Given the description of an element on the screen output the (x, y) to click on. 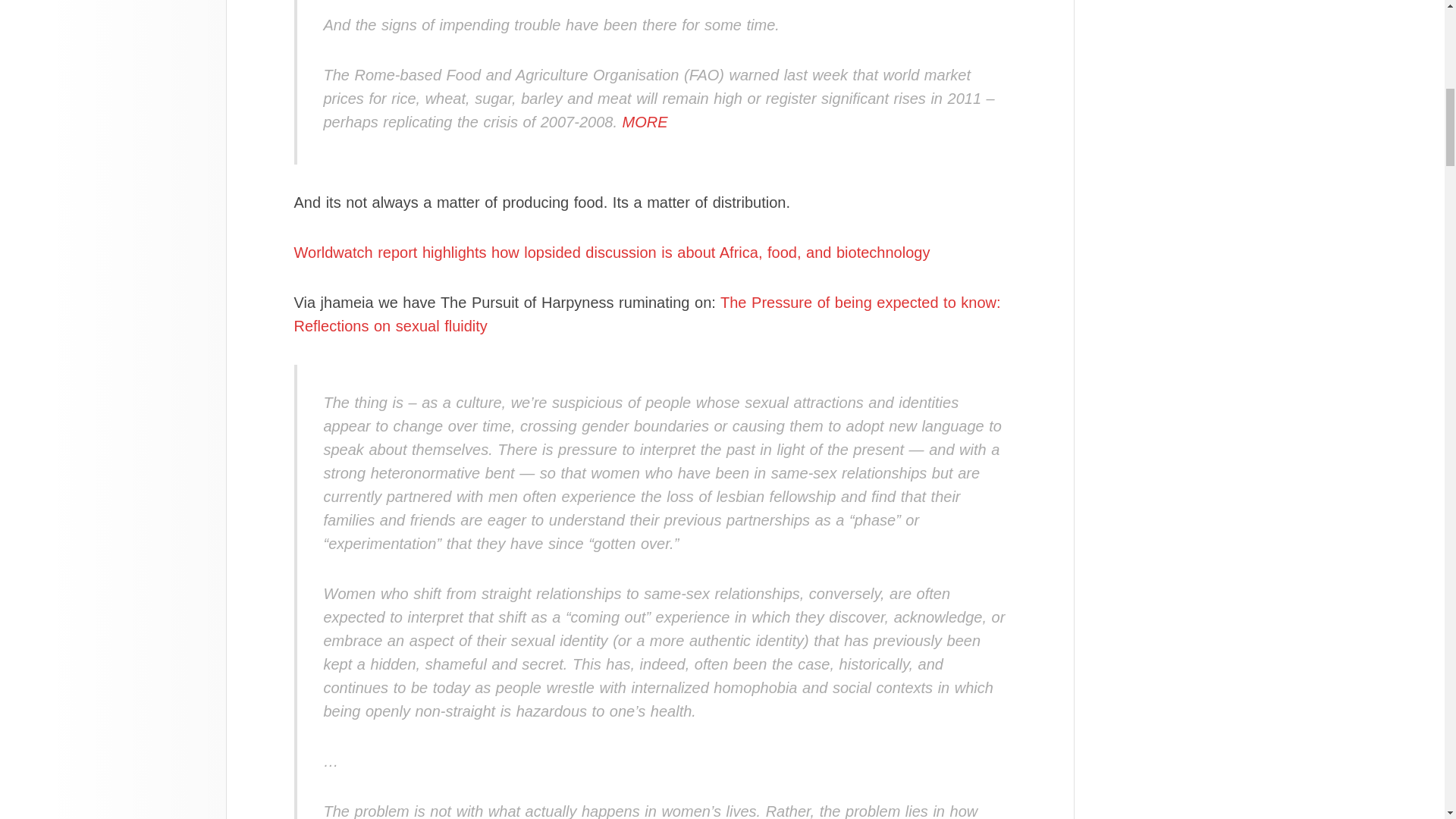
MORE (645, 121)
